Given the description of an element on the screen output the (x, y) to click on. 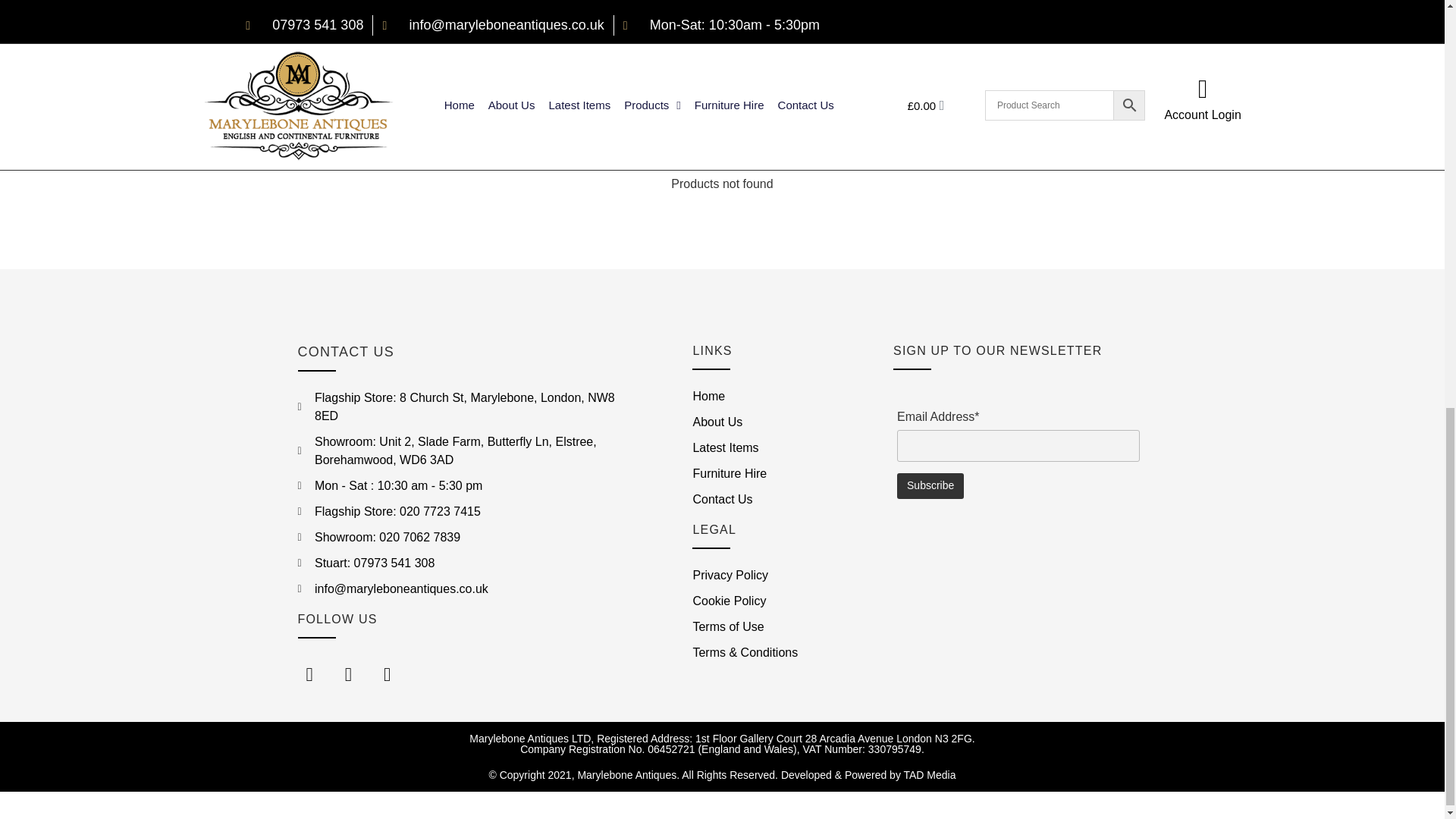
Subscribe (929, 485)
